Given the description of an element on the screen output the (x, y) to click on. 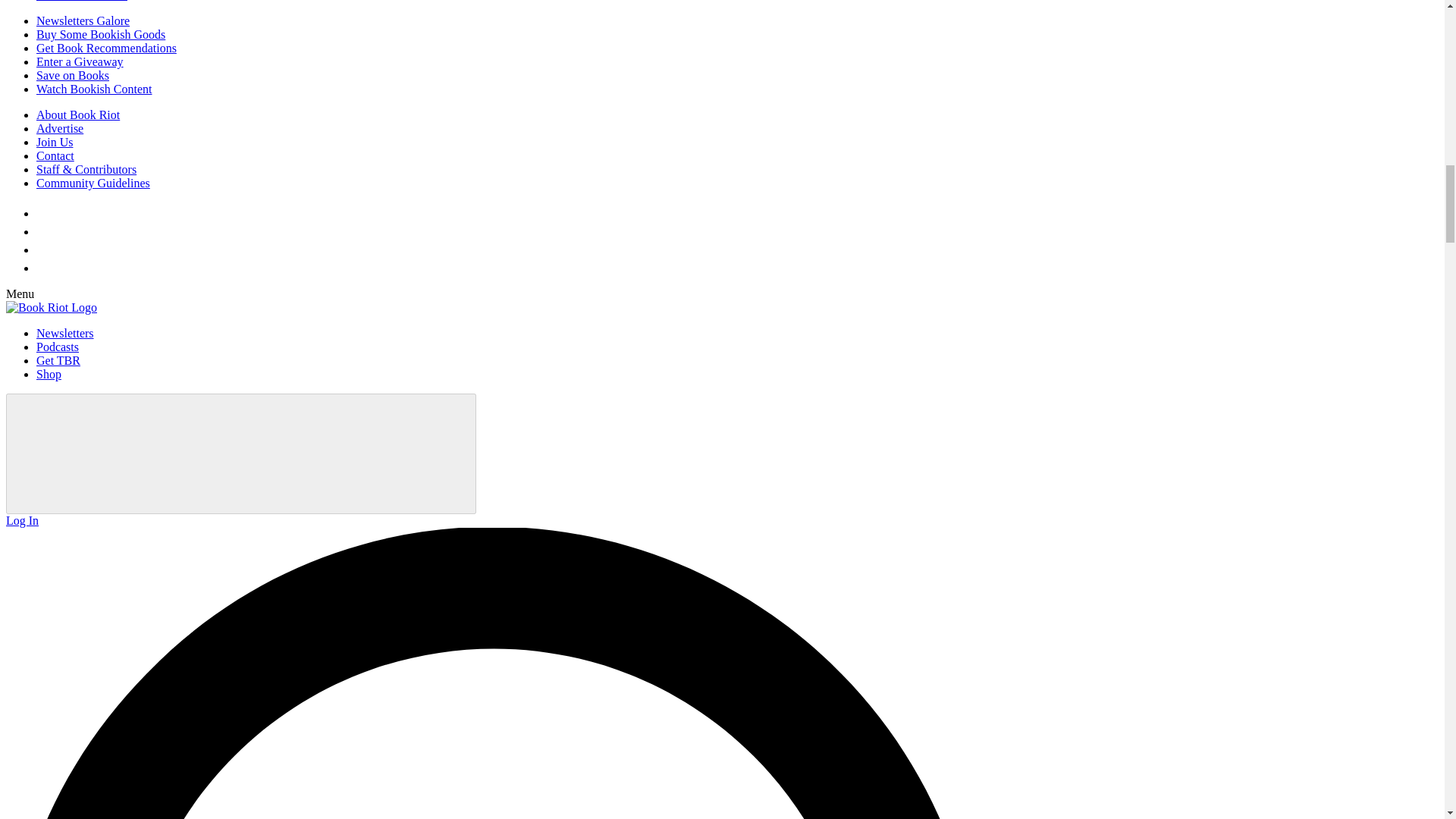
About Book Riot (77, 114)
Community Guidelines (92, 182)
Shop (48, 373)
Get Book Recommendations (106, 47)
Enter a Giveaway (79, 61)
Advertise (59, 128)
Newsletters (65, 332)
Contact (55, 155)
Get TBR (58, 359)
Watch Bookish Content (93, 88)
